Given the description of an element on the screen output the (x, y) to click on. 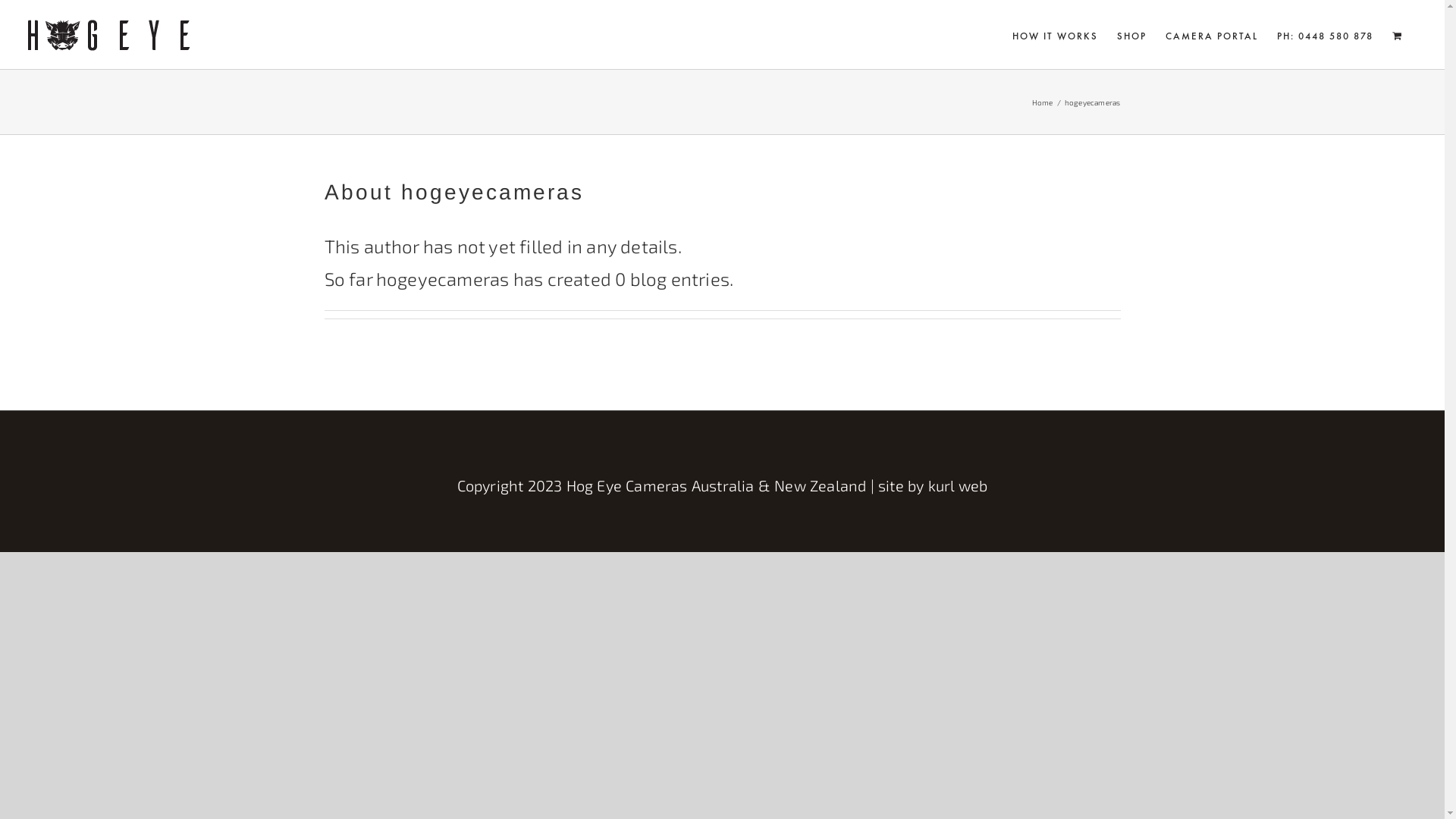
Home Element type: text (1042, 101)
SHOP Element type: text (1131, 34)
PH: 0448 580 878 Element type: text (1325, 34)
CAMERA PORTAL Element type: text (1211, 34)
HOW IT WORKS Element type: text (1055, 34)
kurl web Element type: text (958, 485)
